Given the description of an element on the screen output the (x, y) to click on. 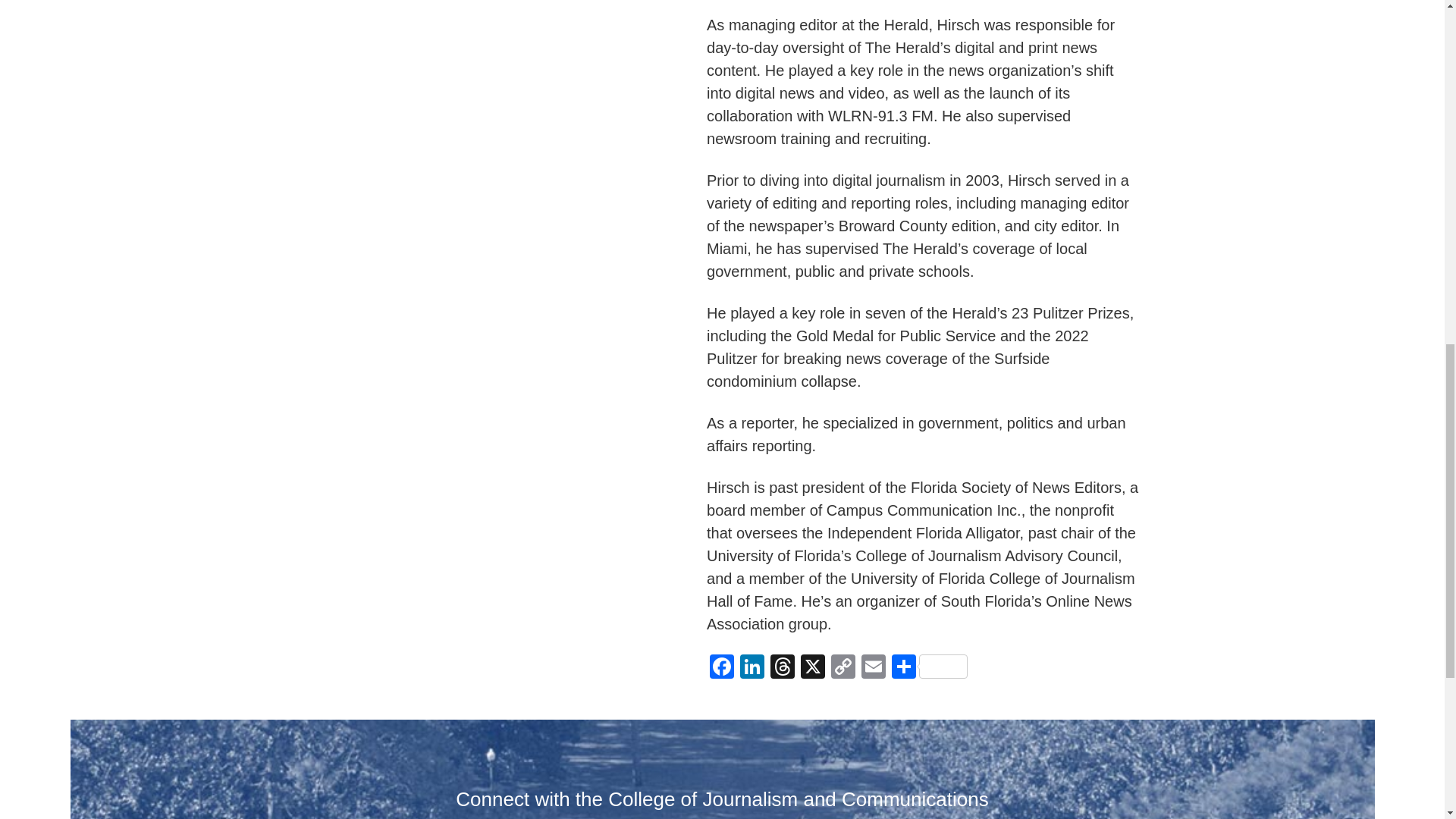
Facebook (721, 668)
Threads (782, 668)
LinkedIn (751, 668)
Copy Link (843, 668)
X (812, 668)
Email (873, 668)
